Given the description of an element on the screen output the (x, y) to click on. 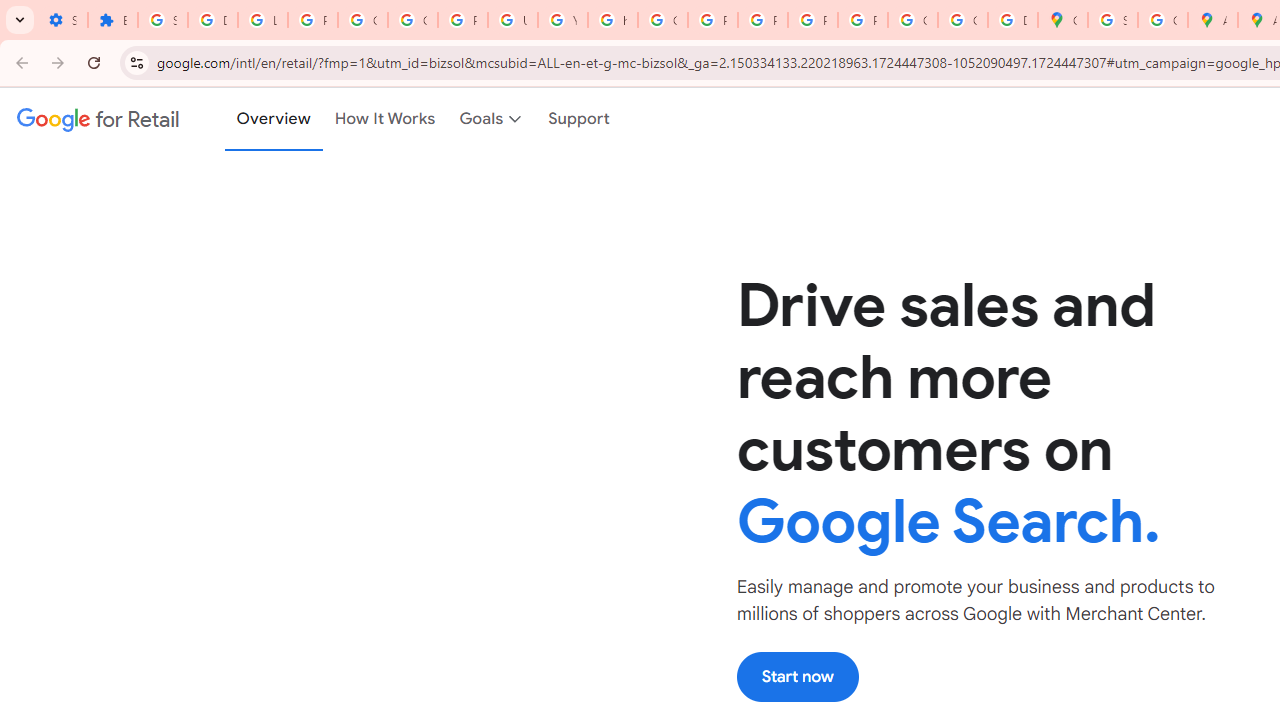
How It Works (385, 119)
Delete photos & videos - Computer - Google Photos Help (213, 20)
YouTube (562, 20)
Sign in - Google Accounts (1112, 20)
